Given the description of an element on the screen output the (x, y) to click on. 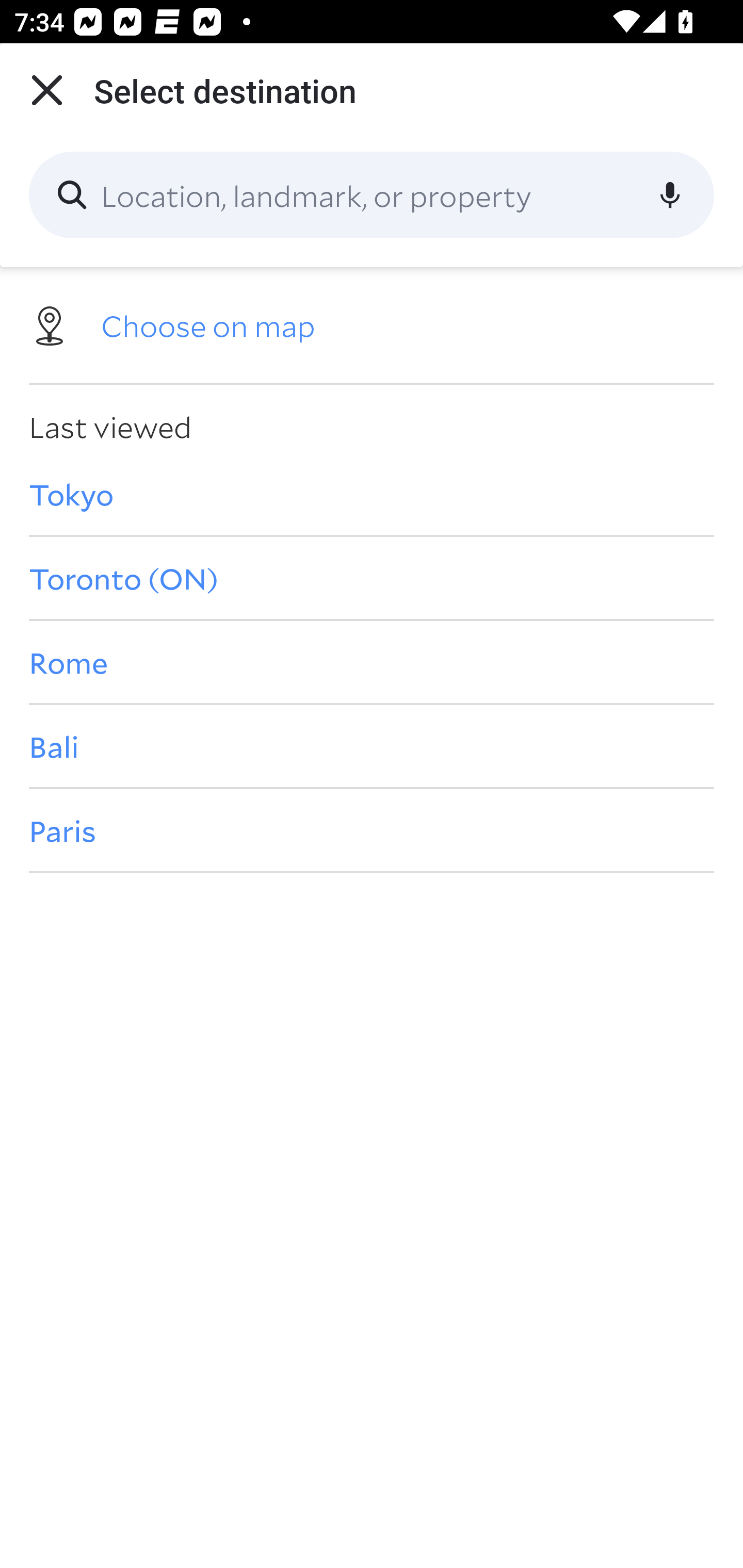
Location, landmark, or property (371, 195)
Choose on map (371, 324)
Tokyo (371, 493)
Toronto (ON) (371, 577)
Rome (371, 661)
Bali (371, 746)
Paris (371, 829)
